Given the description of an element on the screen output the (x, y) to click on. 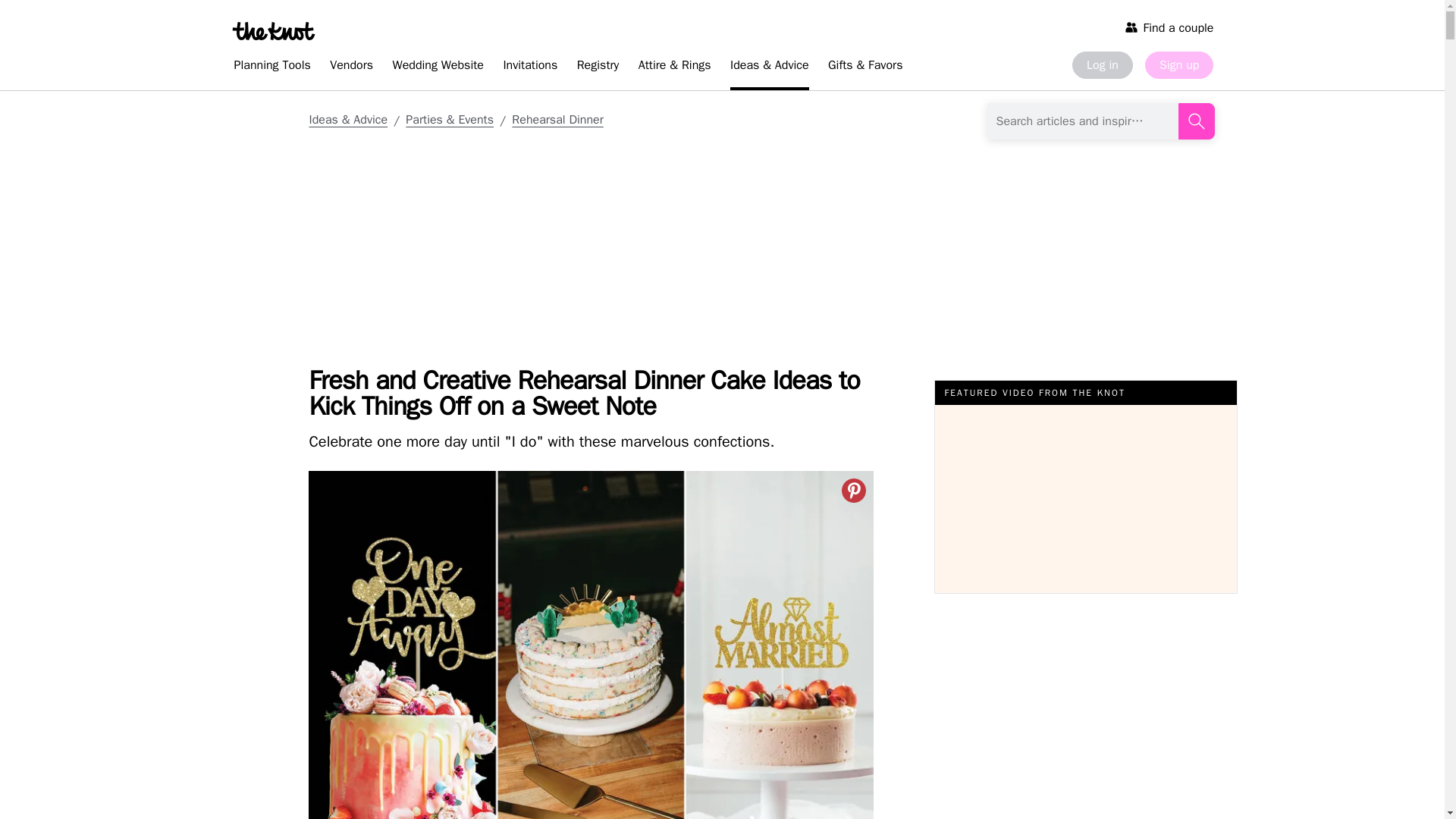
Log in (1101, 64)
Planning Tools (271, 67)
Registry (598, 67)
Vendors (350, 67)
Sign up (1178, 64)
Find a couple (1169, 27)
Wedding Website (438, 67)
3rd party ad content (367, 192)
Invitations (529, 67)
